Given the description of an element on the screen output the (x, y) to click on. 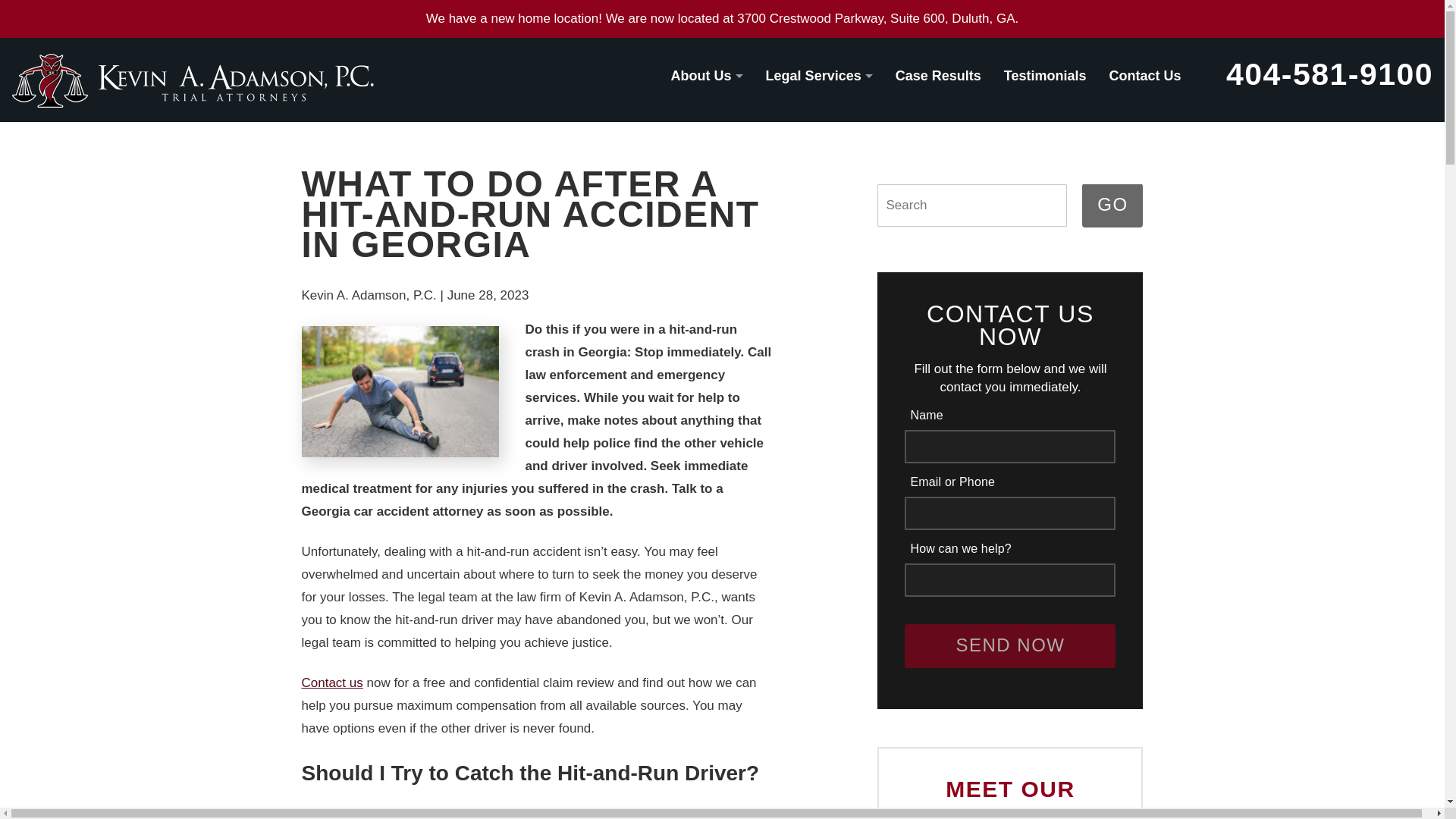
Legal Services (818, 85)
Legal Services (818, 85)
Contact us (331, 682)
Contact Us (1144, 85)
Case Results (937, 85)
About Us (706, 85)
Testimonials (1044, 85)
404-581-9100 (1328, 73)
About Us (706, 85)
GO (1111, 205)
GO (1111, 205)
Case Results (937, 85)
Contact Us (1144, 85)
Testimonials (1044, 85)
